Given the description of an element on the screen output the (x, y) to click on. 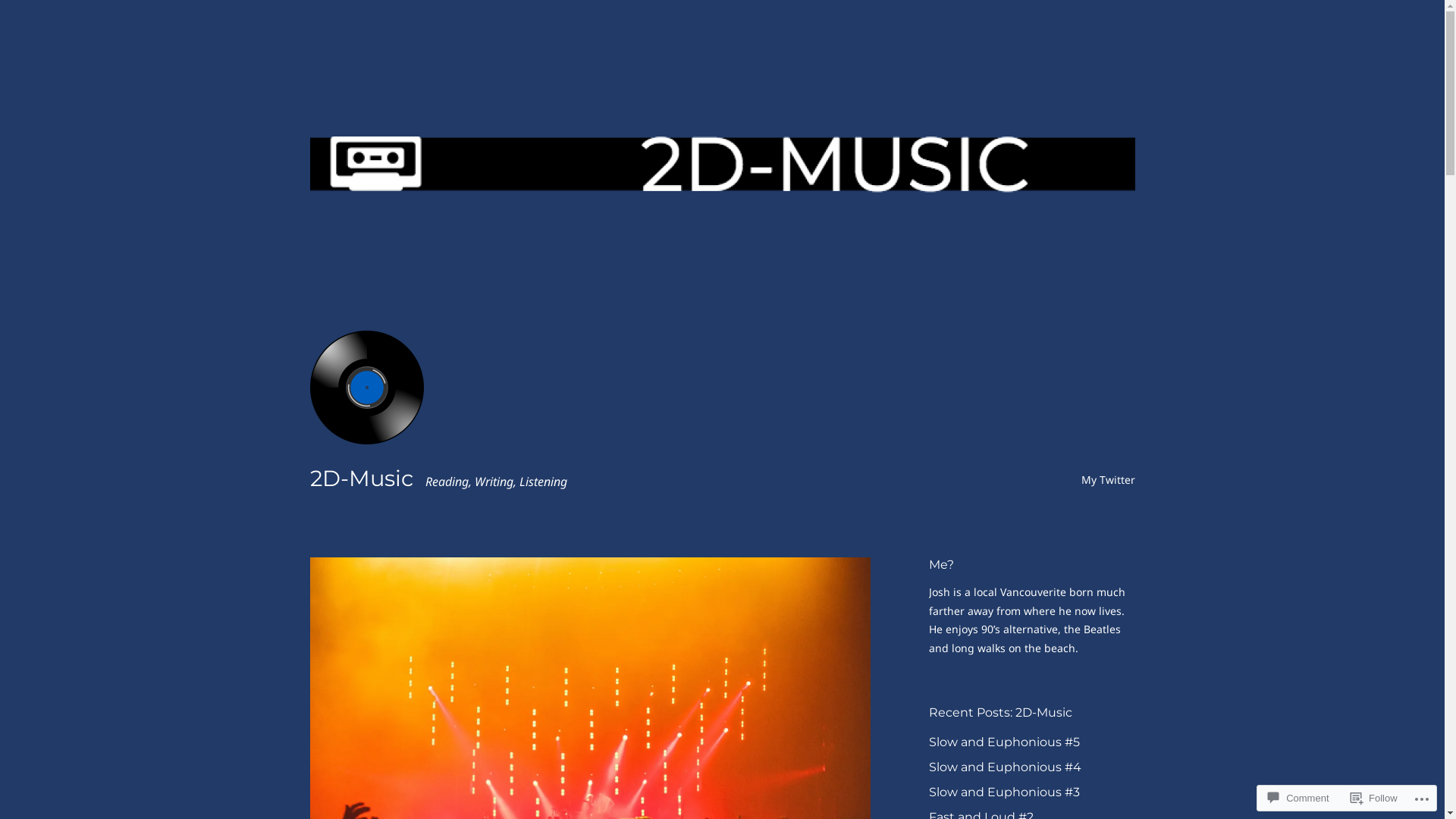
Comment Element type: text (1297, 797)
2D-Music Element type: text (360, 477)
Slow and Euphonious #5 Element type: text (1003, 741)
My Twitter Element type: text (1108, 479)
Slow and Euphonious #4 Element type: text (1004, 766)
Slow and Euphonious #3 Element type: text (1003, 791)
Follow Element type: text (1373, 797)
